Given the description of an element on the screen output the (x, y) to click on. 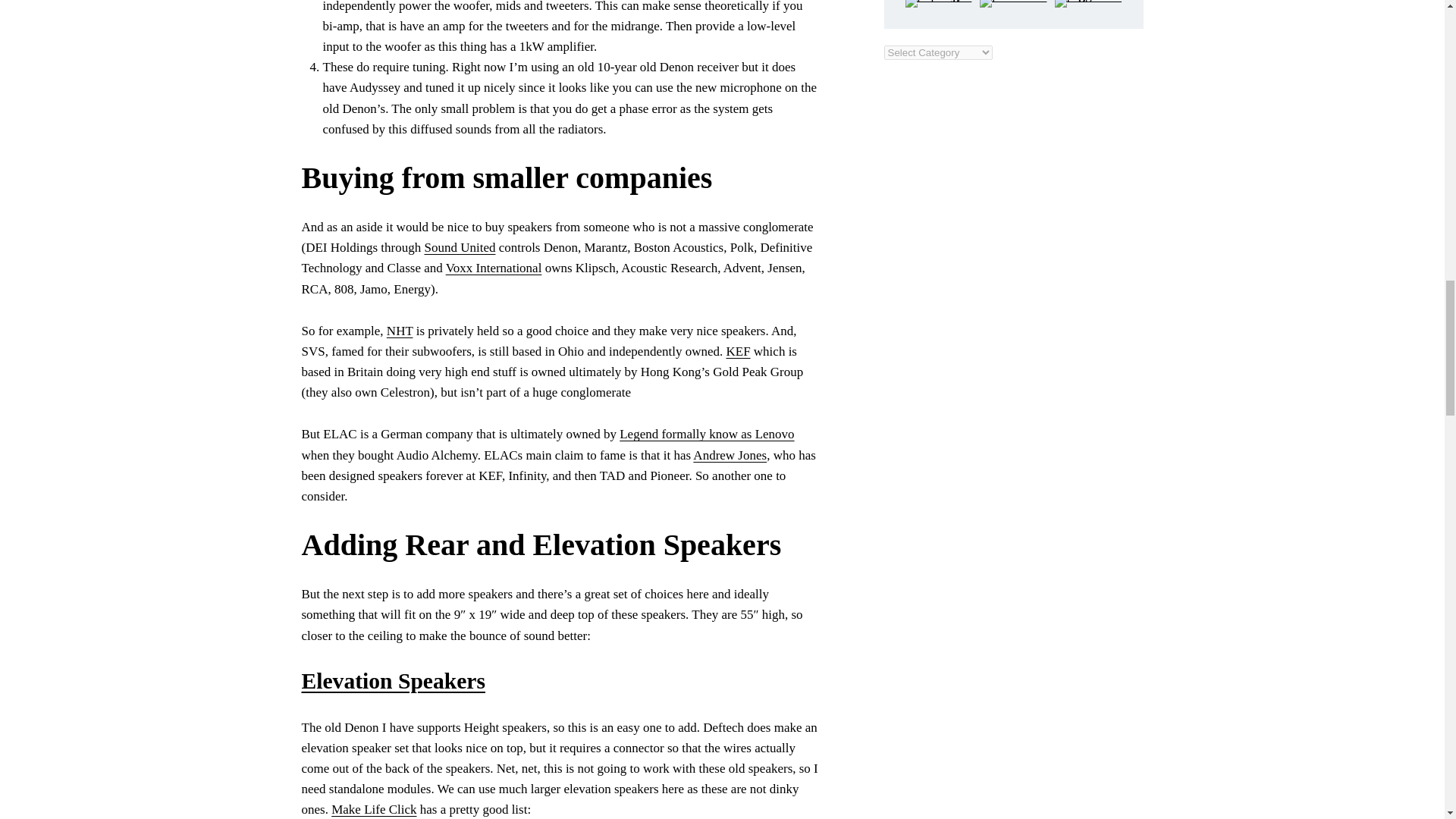
KEF (737, 350)
Sound United (459, 247)
Elevation Speakers (393, 680)
NHT (400, 330)
Voxx International (493, 268)
Legend formally know as Lenovo (706, 433)
Make Life Click (373, 809)
Andrew Jones (730, 454)
